Given the description of an element on the screen output the (x, y) to click on. 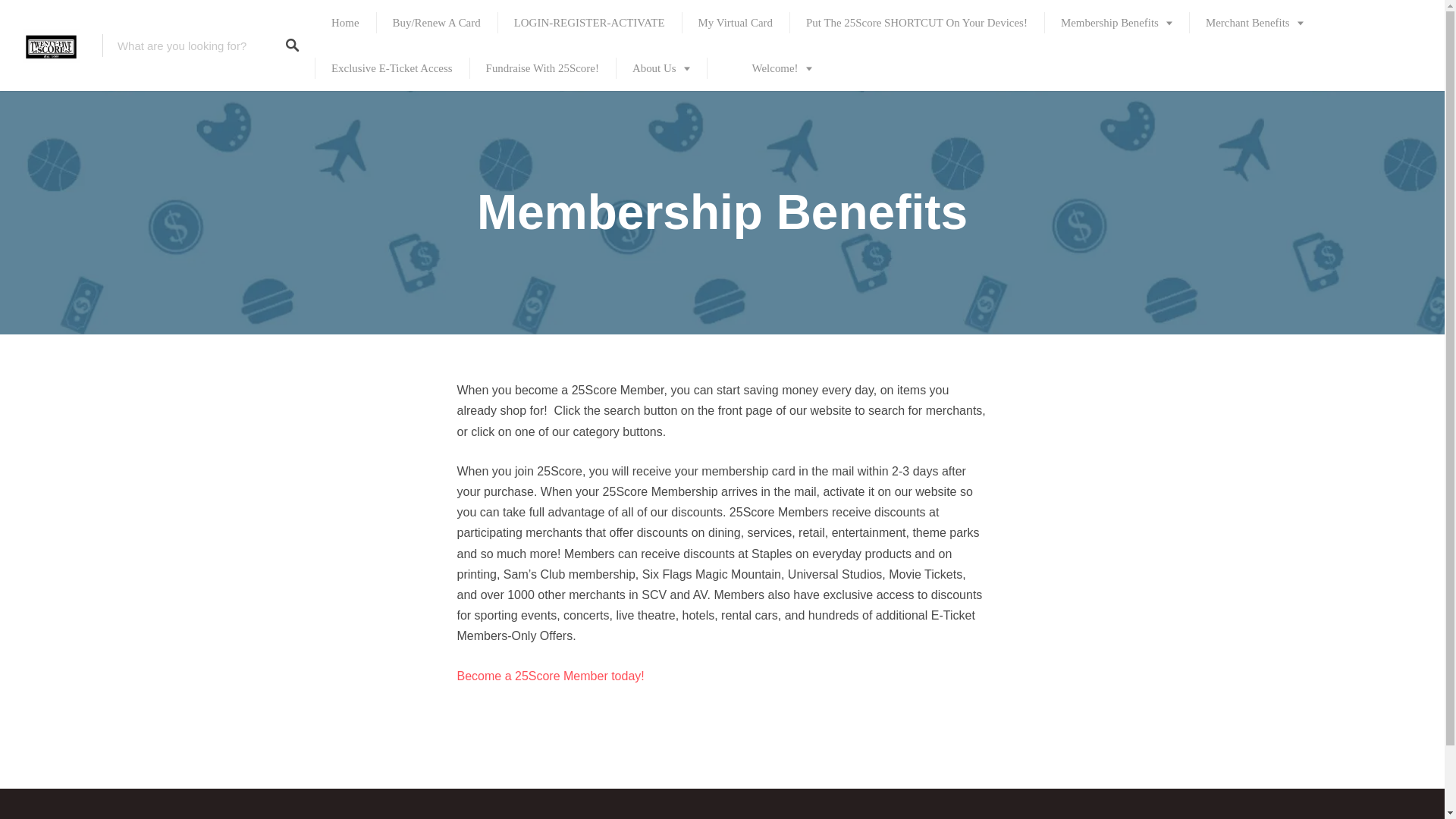
Fundraise With 25Score! (541, 67)
Home (344, 22)
About Us (660, 67)
Put The 25Score SHORTCUT On Your Devices! (916, 22)
Exclusive E-Ticket Access (391, 67)
Merchant Benefits (1254, 22)
My Virtual Card (735, 22)
LOGIN-REGISTER-ACTIVATE (589, 22)
Membership Benefits (1116, 22)
Welcome! (767, 67)
